Given the description of an element on the screen output the (x, y) to click on. 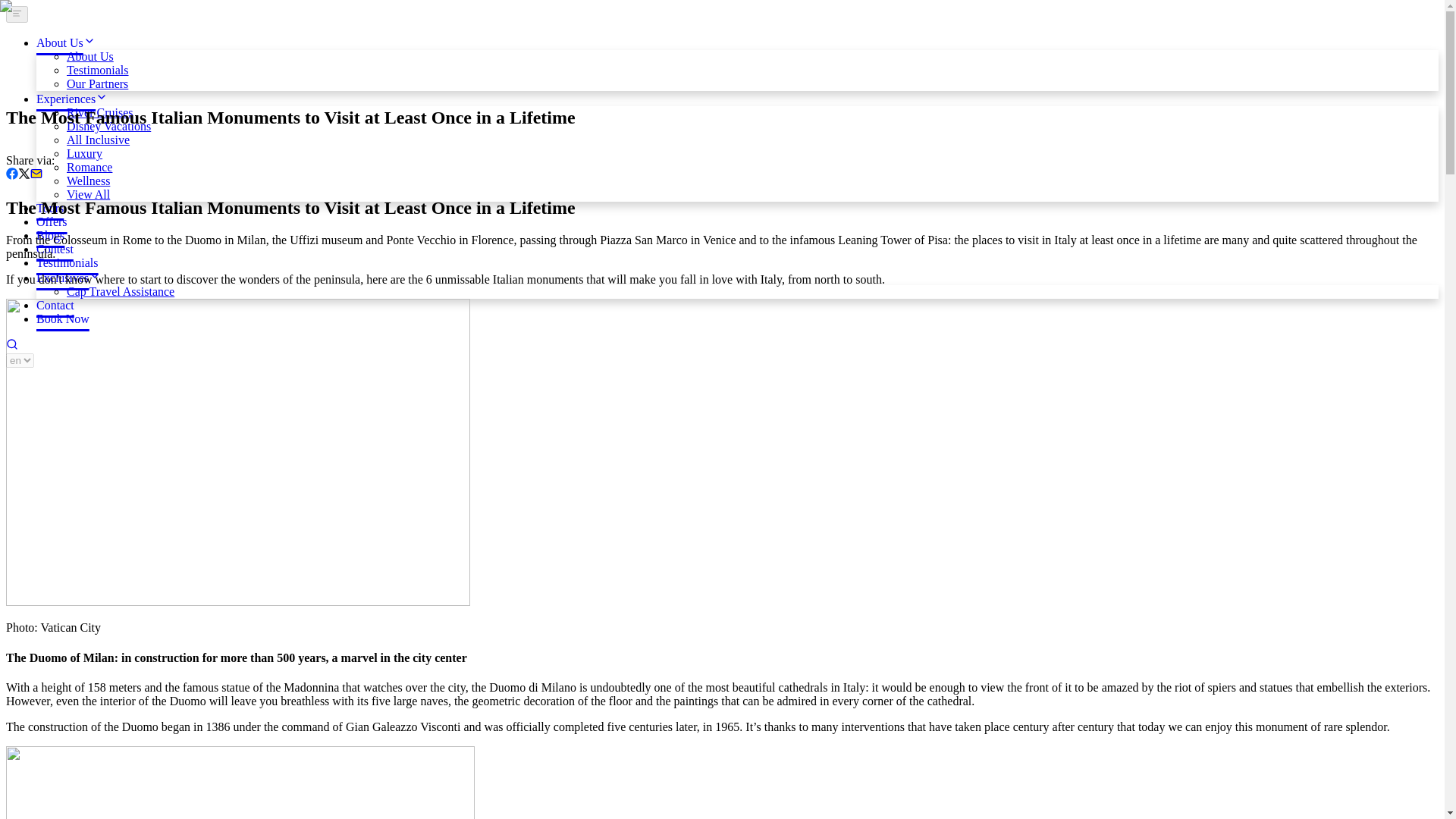
River Cruises (99, 112)
Romance (89, 166)
Contest (55, 248)
Our Partners (97, 83)
All Inclusive (97, 139)
View All (88, 194)
Tours (50, 207)
Exclusives (68, 277)
Book Now (62, 318)
Testimonials (97, 69)
Disney Vacations (108, 125)
Offers (51, 221)
Experiences (71, 98)
Cap Travel Assistance (120, 291)
Testimonials (67, 262)
